Given the description of an element on the screen output the (x, y) to click on. 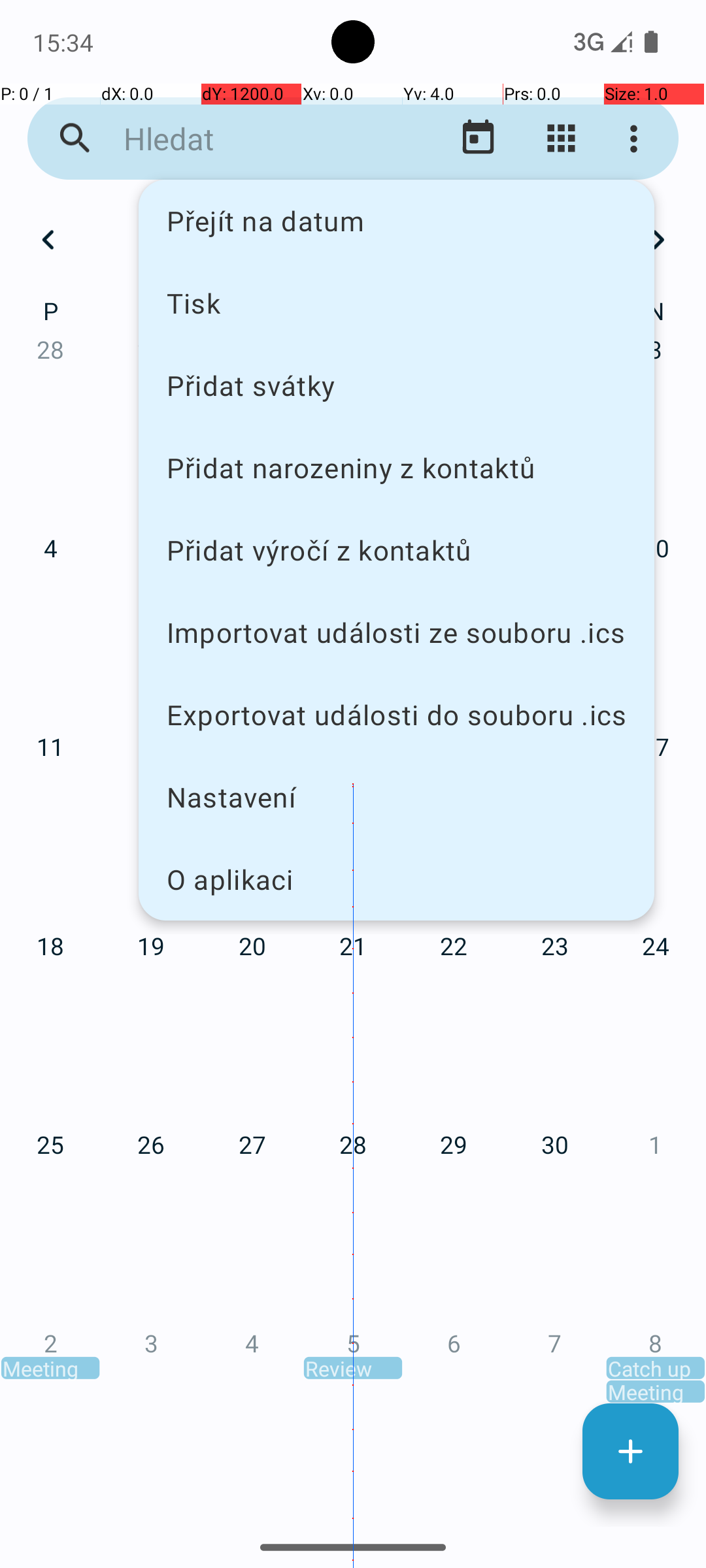
Přejít na datum Element type: android.widget.TextView (396, 220)
Tisk Element type: android.widget.TextView (396, 302)
Přidat svátky Element type: android.widget.TextView (396, 384)
Přidat narozeniny z kontaktů Element type: android.widget.TextView (396, 467)
Přidat výročí z kontaktů Element type: android.widget.TextView (396, 549)
Importovat události ze souboru .ics Element type: android.widget.TextView (396, 631)
Exportovat události do souboru .ics Element type: android.widget.TextView (396, 714)
O aplikaci Element type: android.widget.TextView (396, 878)
